Given the description of an element on the screen output the (x, y) to click on. 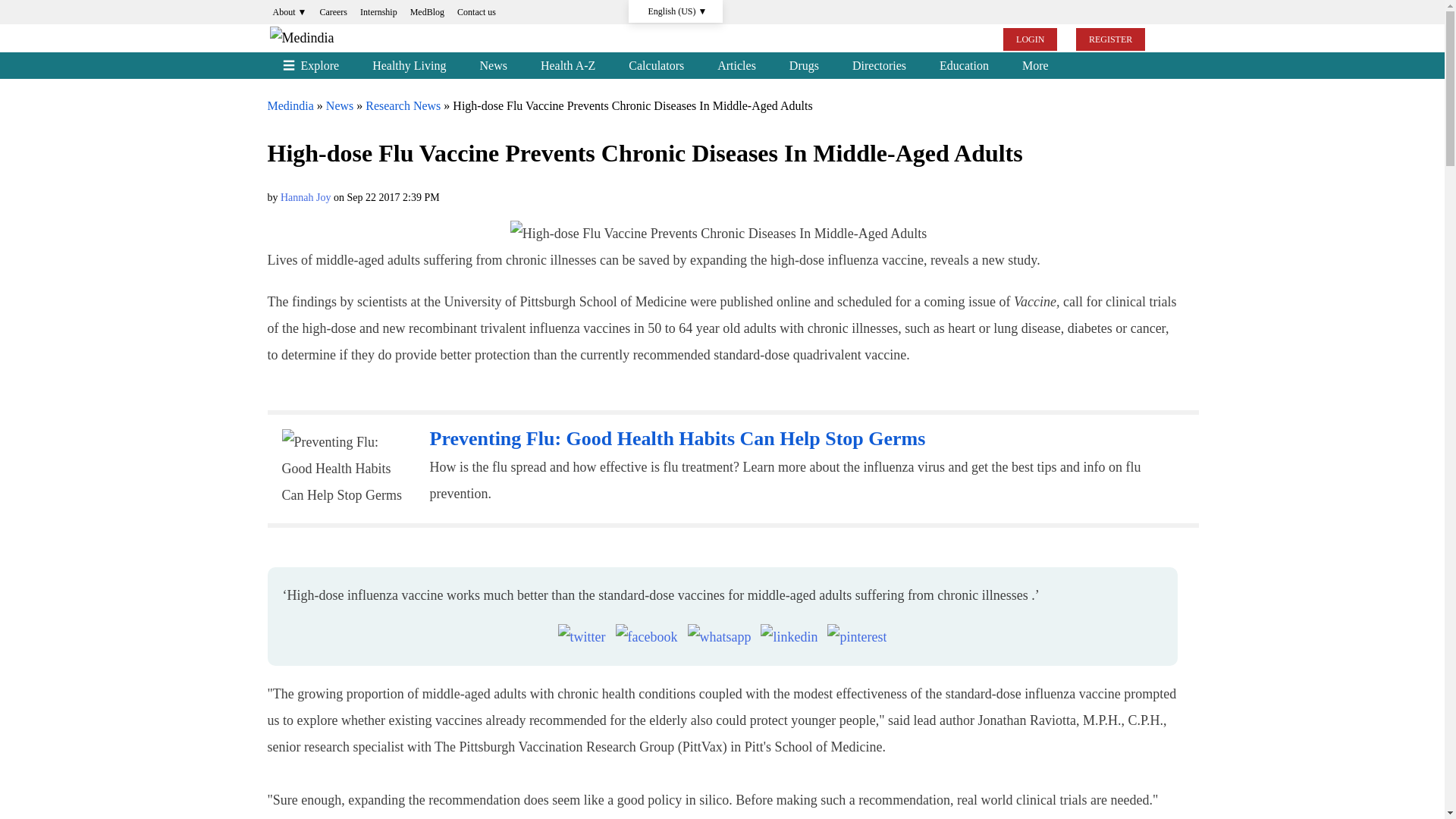
REGISTER (1109, 38)
Articles (736, 65)
News (492, 65)
Drugs (804, 65)
Contact us (475, 11)
Education (964, 65)
Preventing Flu: Good Health Habits Can Help Stop Germs (676, 438)
Calculators (655, 65)
Medindia (289, 105)
Research News (403, 105)
